Given the description of an element on the screen output the (x, y) to click on. 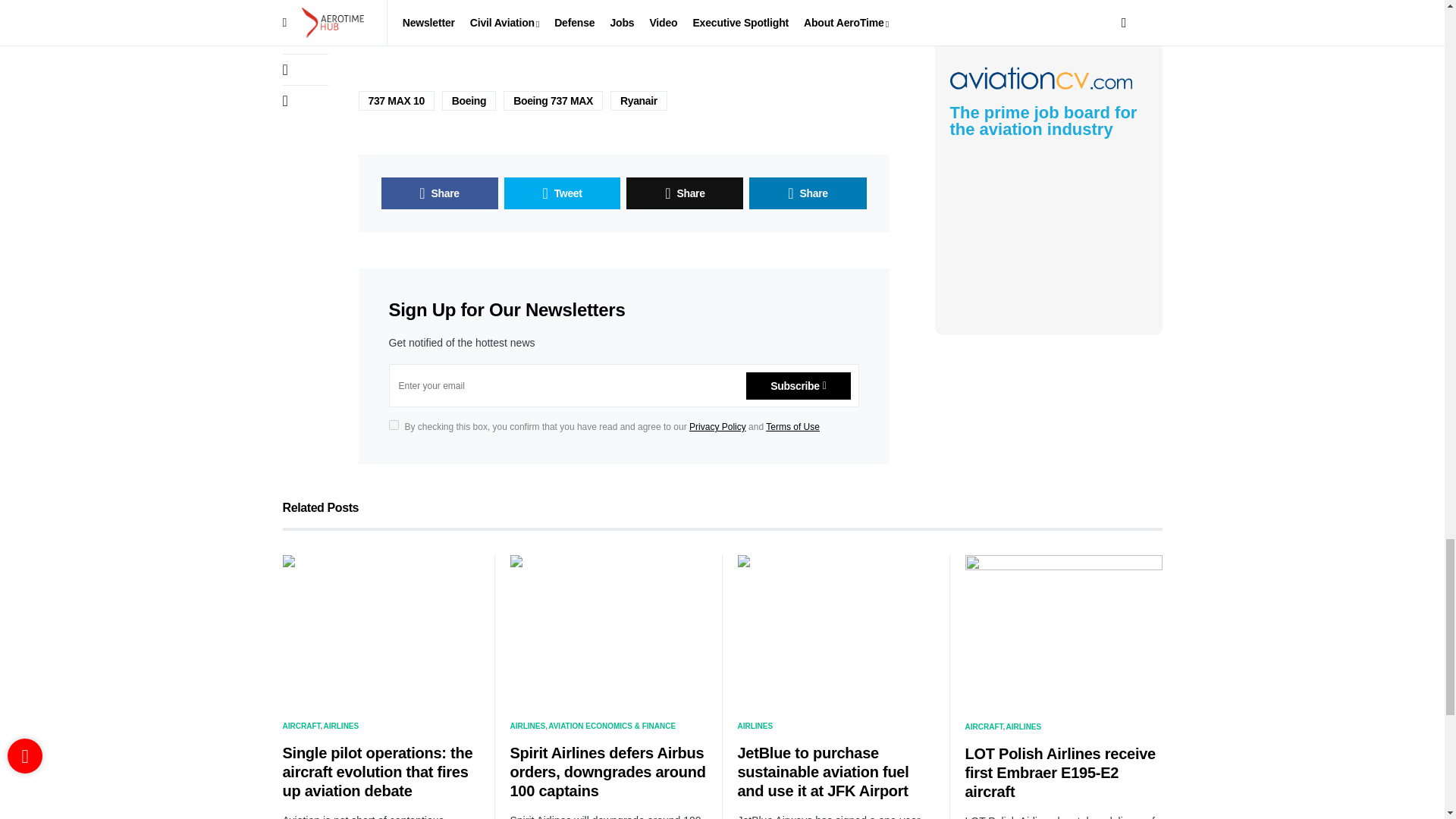
View all posts by Ian Molyneaux (518, 7)
on (392, 424)
